Given the description of an element on the screen output the (x, y) to click on. 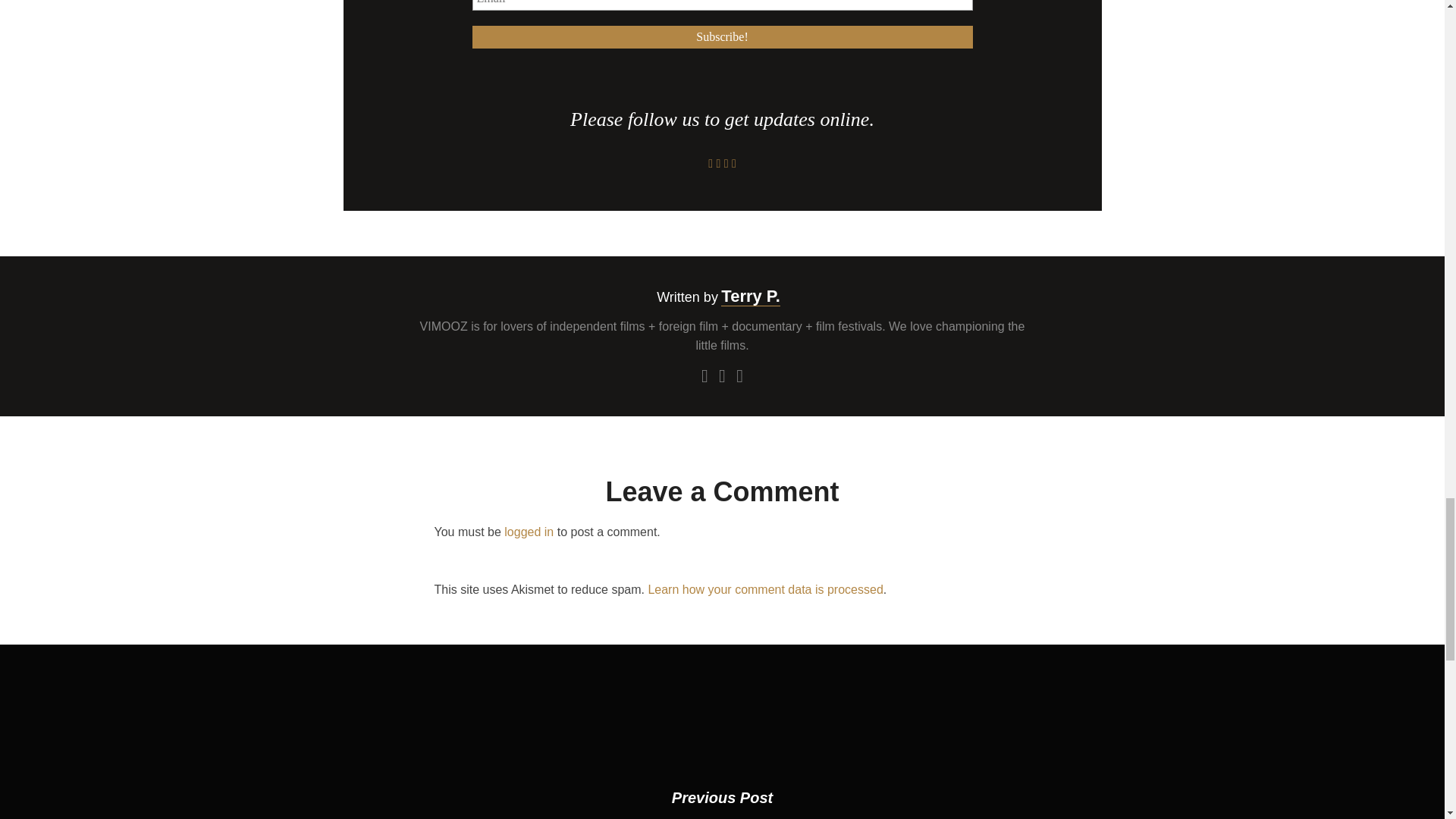
Subscribe! (721, 36)
